Given the description of an element on the screen output the (x, y) to click on. 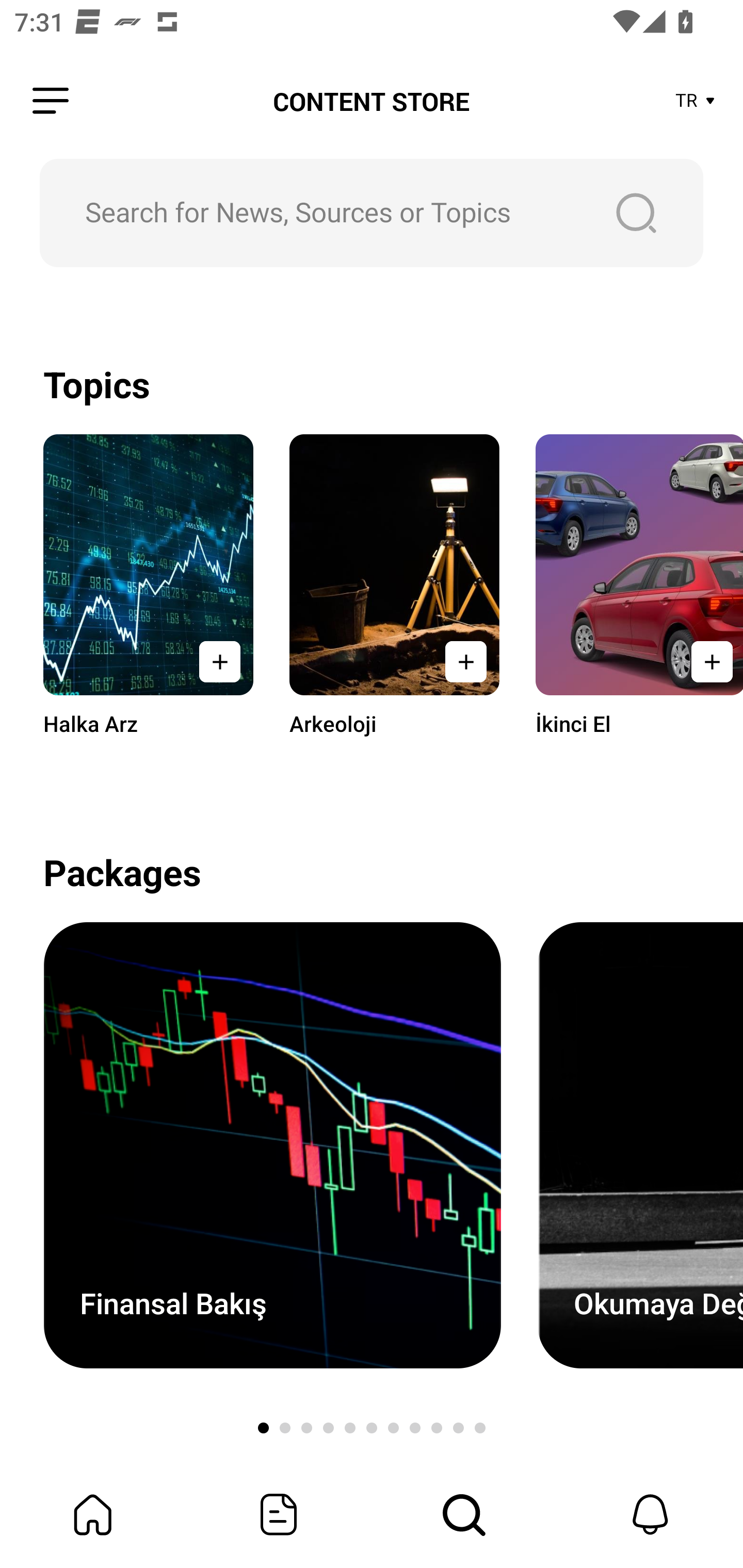
Leading Icon (50, 101)
TR Store Area (695, 101)
Search for News, Sources or Topics Search Button (371, 212)
Add To My Bundle (219, 661)
Add To My Bundle (465, 661)
Add To My Bundle (705, 661)
Content Store Discover Card Image Finansal Bakış (271, 1144)
My Bundle (92, 1514)
Featured (278, 1514)
Notifications (650, 1514)
